Given the description of an element on the screen output the (x, y) to click on. 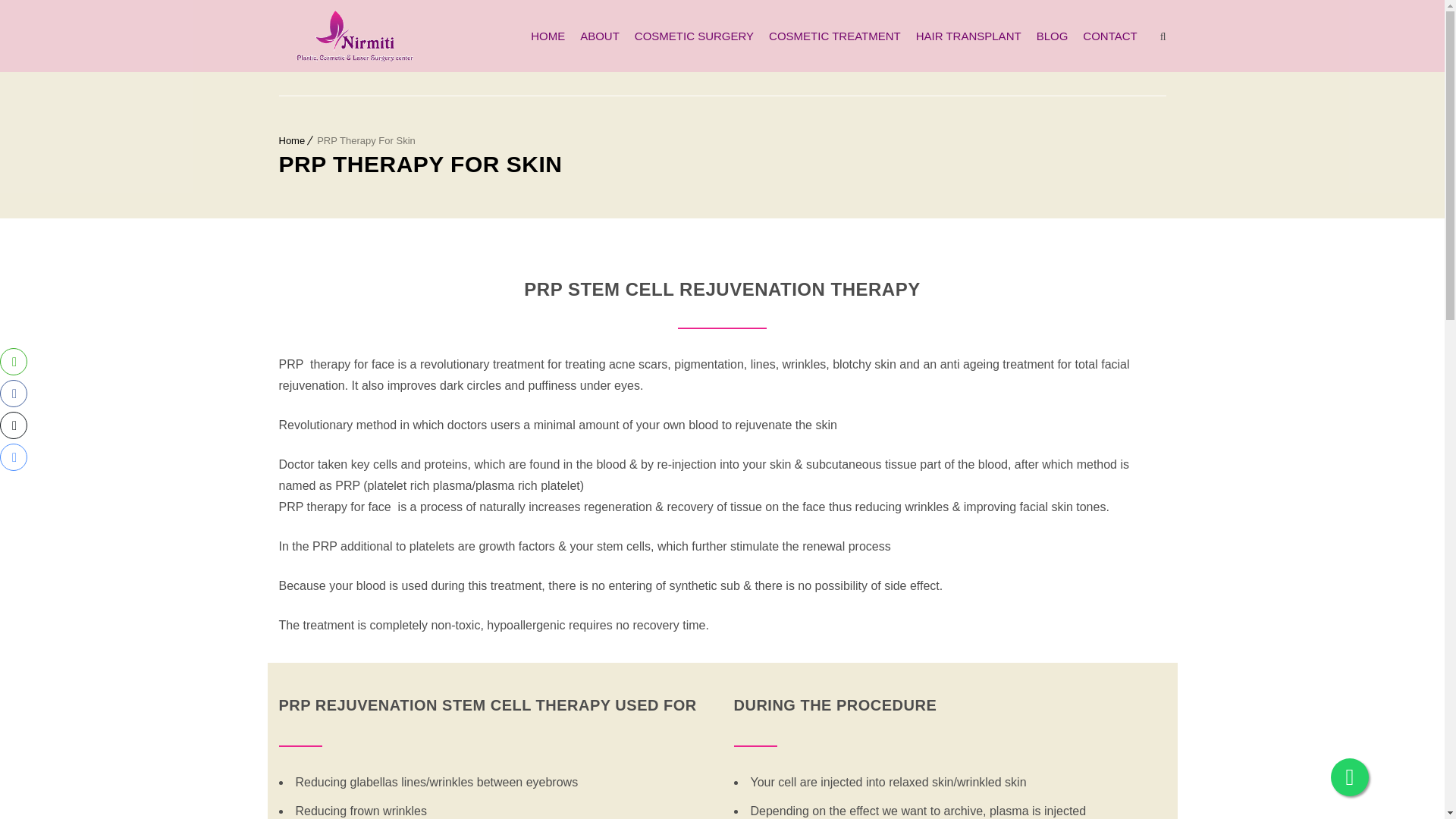
COSMETIC TREATMENT (831, 35)
Go (1147, 18)
HOME (543, 35)
ABOUT (596, 35)
Nirmiti (354, 35)
COSMETIC SURGERY (690, 35)
